Given the description of an element on the screen output the (x, y) to click on. 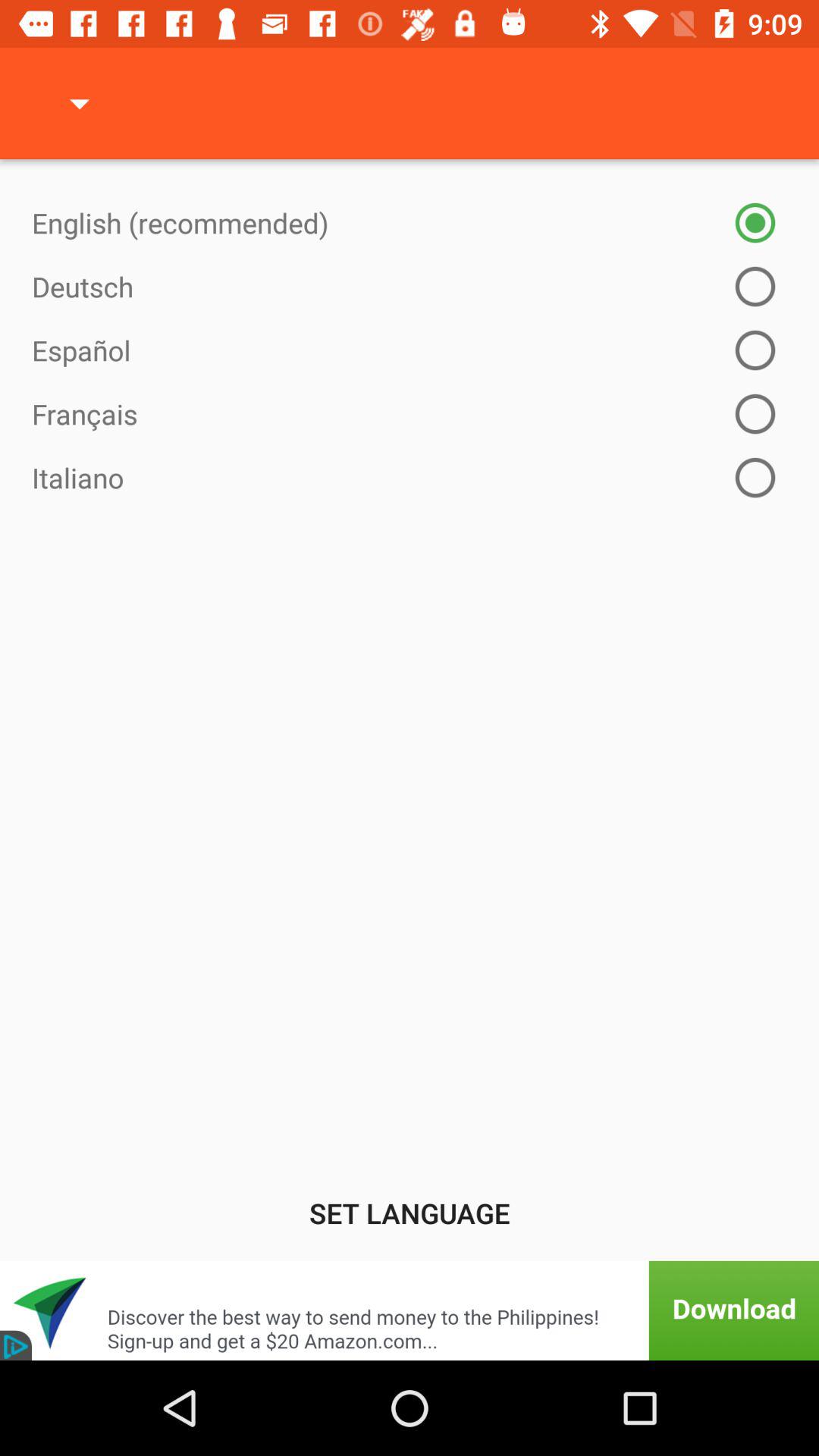
download advertisement (409, 1310)
